Given the description of an element on the screen output the (x, y) to click on. 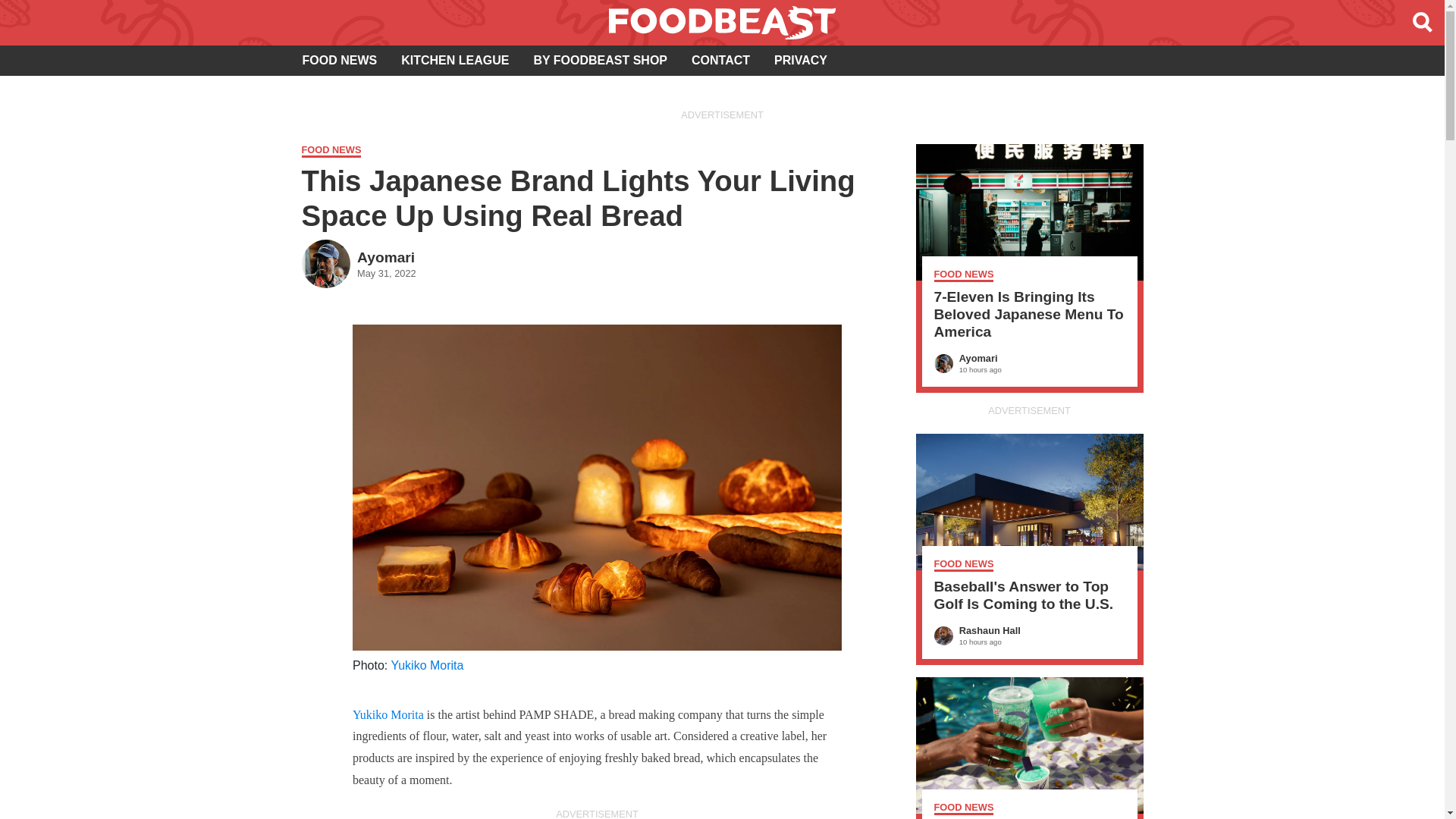
PRIVACY (800, 60)
CONTACT (720, 60)
FOOD NEWS (358, 262)
Yukiko Morita (338, 60)
Yukiko Morita (426, 665)
BY FOODBEAST SHOP (387, 714)
GET FOOD NEWS (600, 60)
KITCHEN LEAGUE (722, 151)
